Given the description of an element on the screen output the (x, y) to click on. 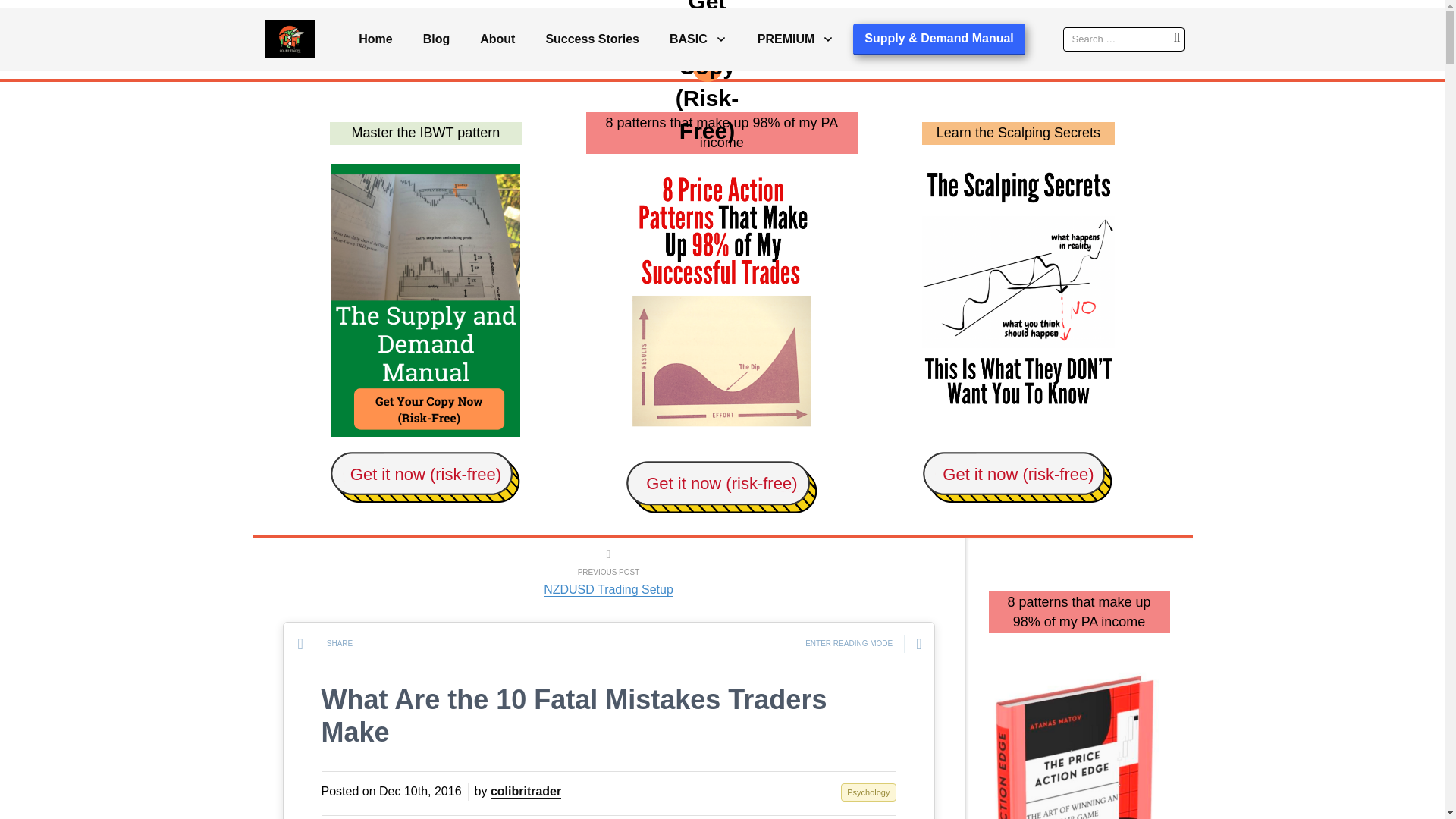
Success Stories (592, 39)
Search (68, 12)
BASIC (698, 39)
About (496, 39)
Blog (436, 39)
Home (375, 39)
PREMIUM (795, 39)
